Given the description of an element on the screen output the (x, y) to click on. 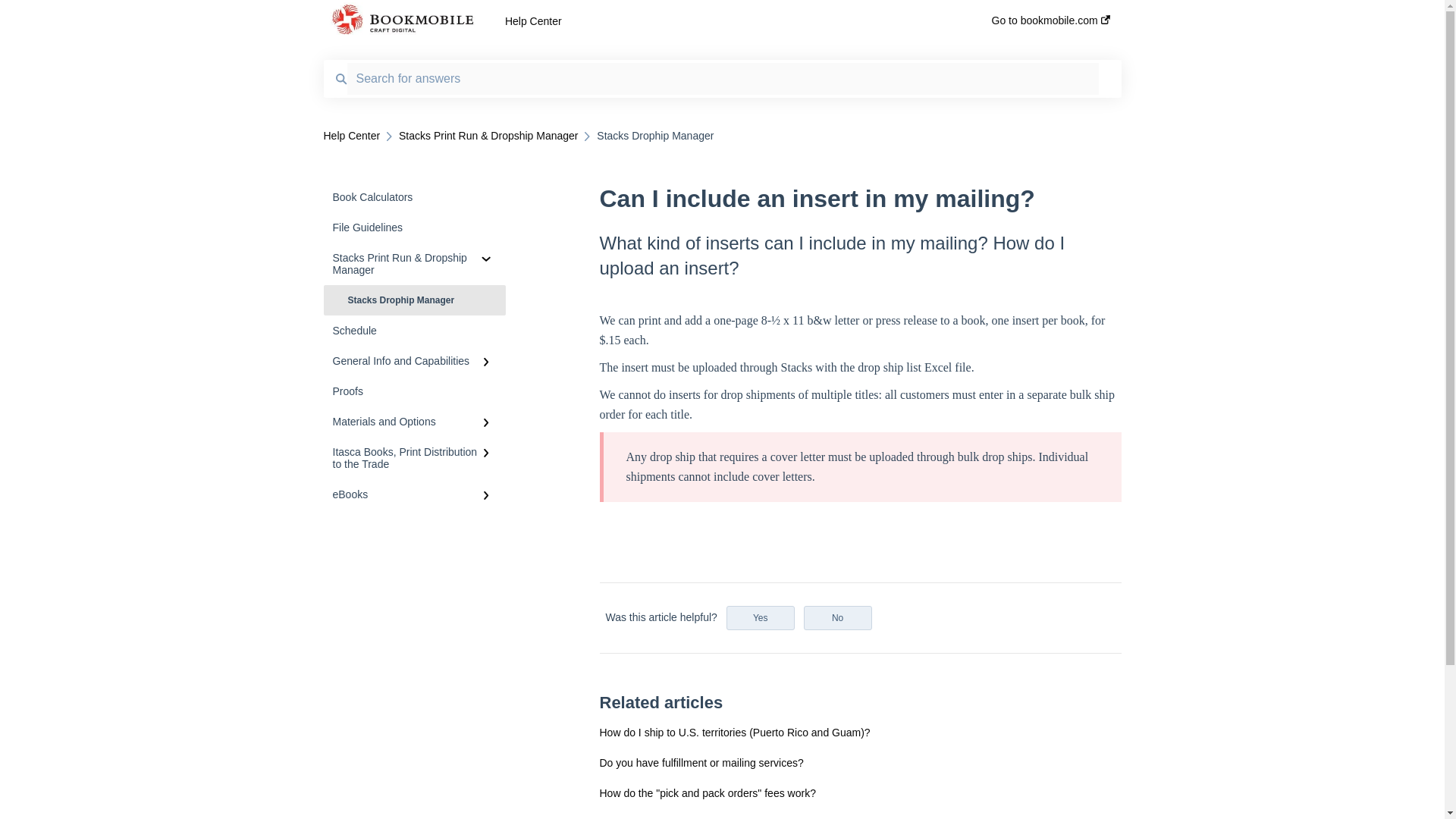
Book Calculators (414, 196)
Help Center (351, 135)
Schedule (414, 330)
General Info and Capabilities (414, 360)
Stacks Drophip Manager (414, 300)
File Guidelines (414, 227)
Go to bookmobile.com (1050, 25)
Help Center (725, 21)
